Given the description of an element on the screen output the (x, y) to click on. 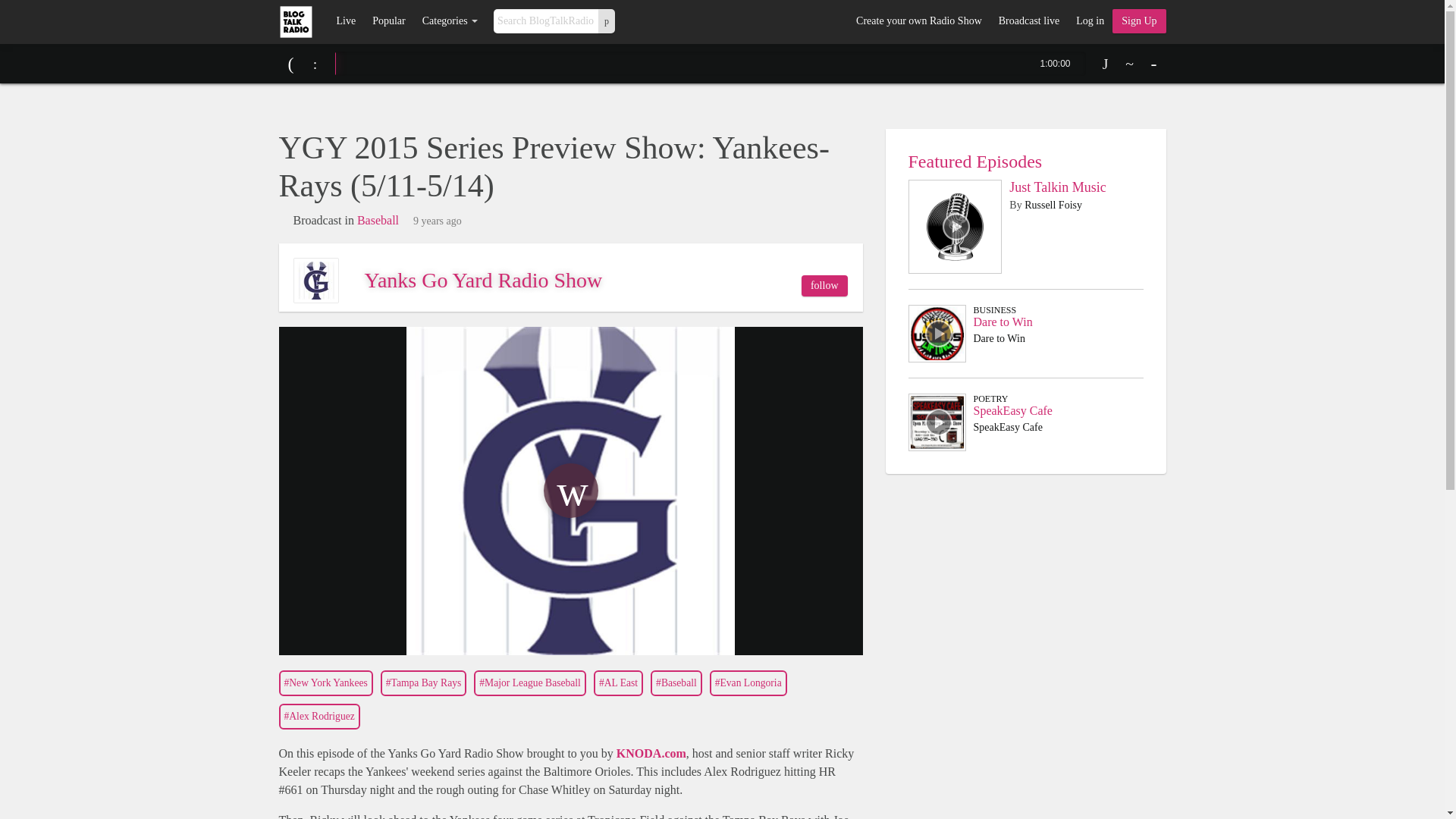
Create your own Radio Show (918, 20)
Log in (1089, 20)
Categories (449, 20)
Mon, May 11, 2015 09:00 am (437, 221)
Sign Up (1139, 21)
Create My Talk Show (1139, 21)
Download this episode (1105, 63)
Follow Yanks Go Yard Radio Show (824, 285)
Broadcast live (1028, 20)
Embed this episode (1129, 63)
